Given the description of an element on the screen output the (x, y) to click on. 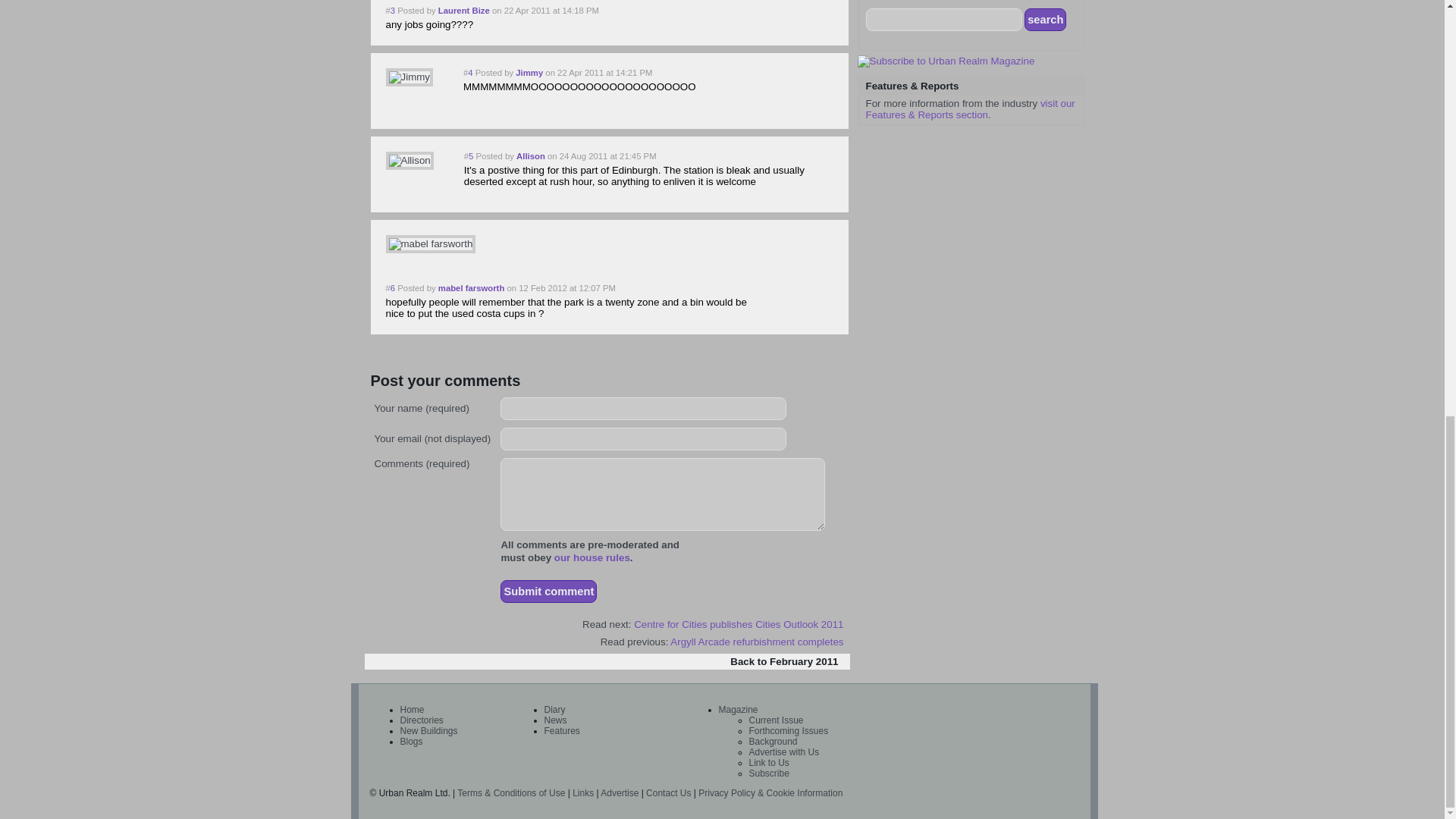
Submit comment (548, 590)
Subscribe to Urban Realm Magazine (945, 61)
search (1045, 19)
Jimmy (408, 76)
Allison (408, 160)
mabel farsworth (430, 244)
